Given the description of an element on the screen output the (x, y) to click on. 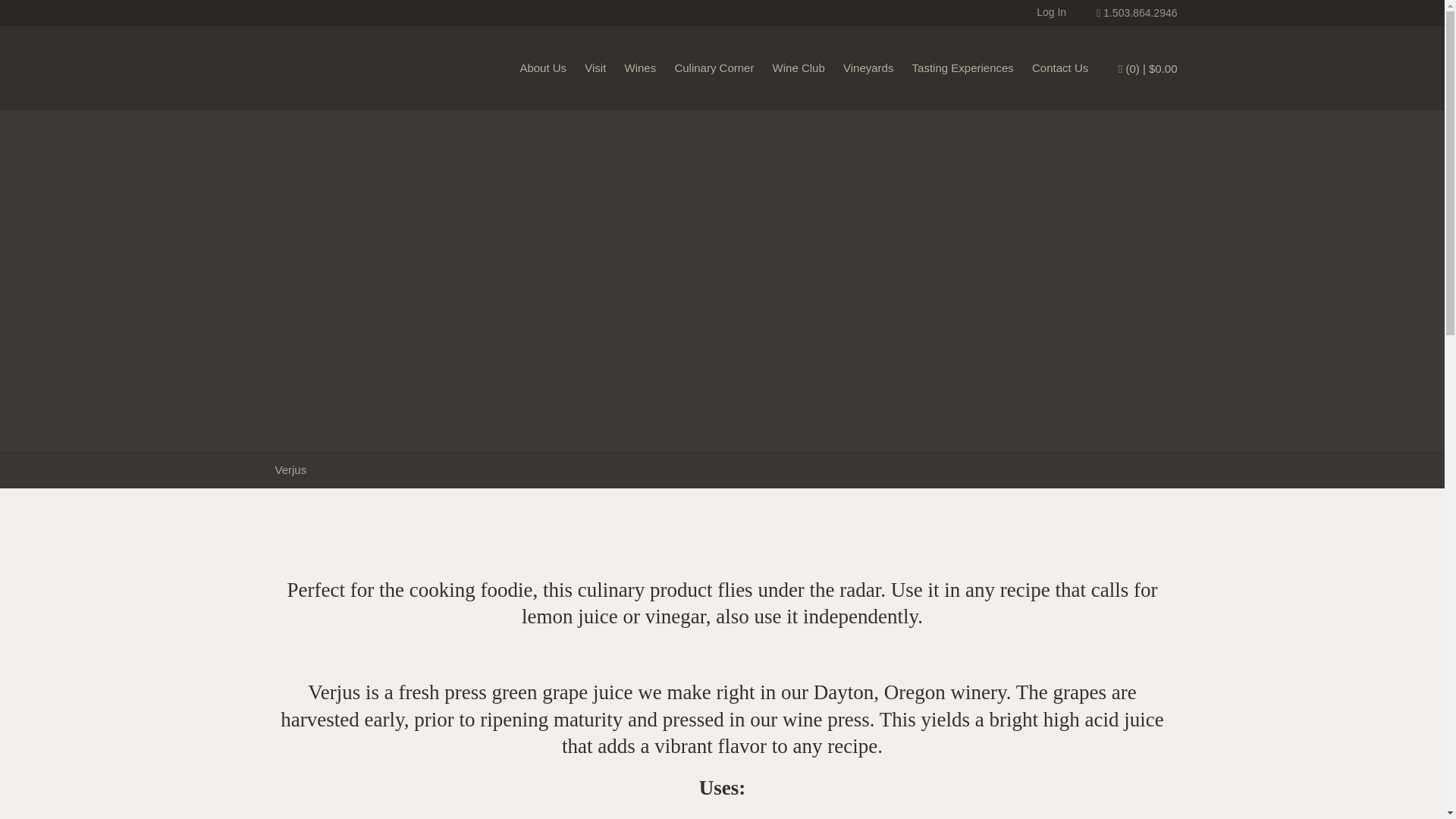
Seufert Winery Home (360, 66)
Culinary Corner (714, 68)
Verjus (290, 468)
Tasting Experiences (962, 68)
Log In (1050, 11)
1.503.864.2946 (1136, 12)
